Given the description of an element on the screen output the (x, y) to click on. 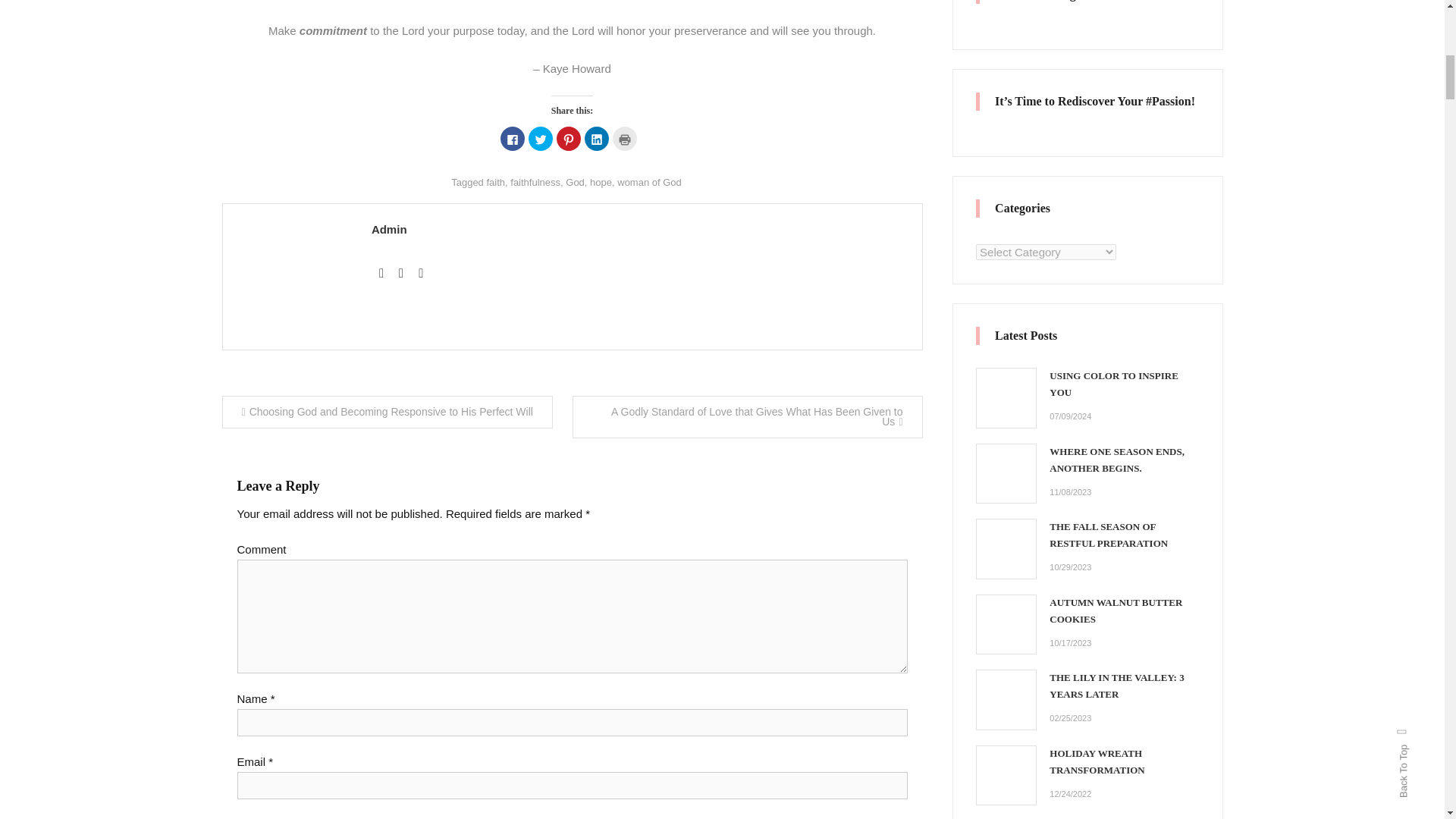
Admin (639, 229)
God (575, 182)
Click to share on Pinterest (568, 138)
The Fall Season of Restful Preparation (1005, 548)
Using Color to Inspire You (1005, 397)
faithfulness (535, 182)
Autumn Walnut Butter Cookies (1005, 624)
woman of God (649, 182)
Click to print (624, 138)
Click to share on Twitter (539, 138)
Holiday Wreath Transformation (1005, 775)
Click to share on LinkedIn (595, 138)
The Lily in the Valley: 3 Years Later (1005, 699)
hope (600, 182)
Click to share on Facebook (512, 138)
